Given the description of an element on the screen output the (x, y) to click on. 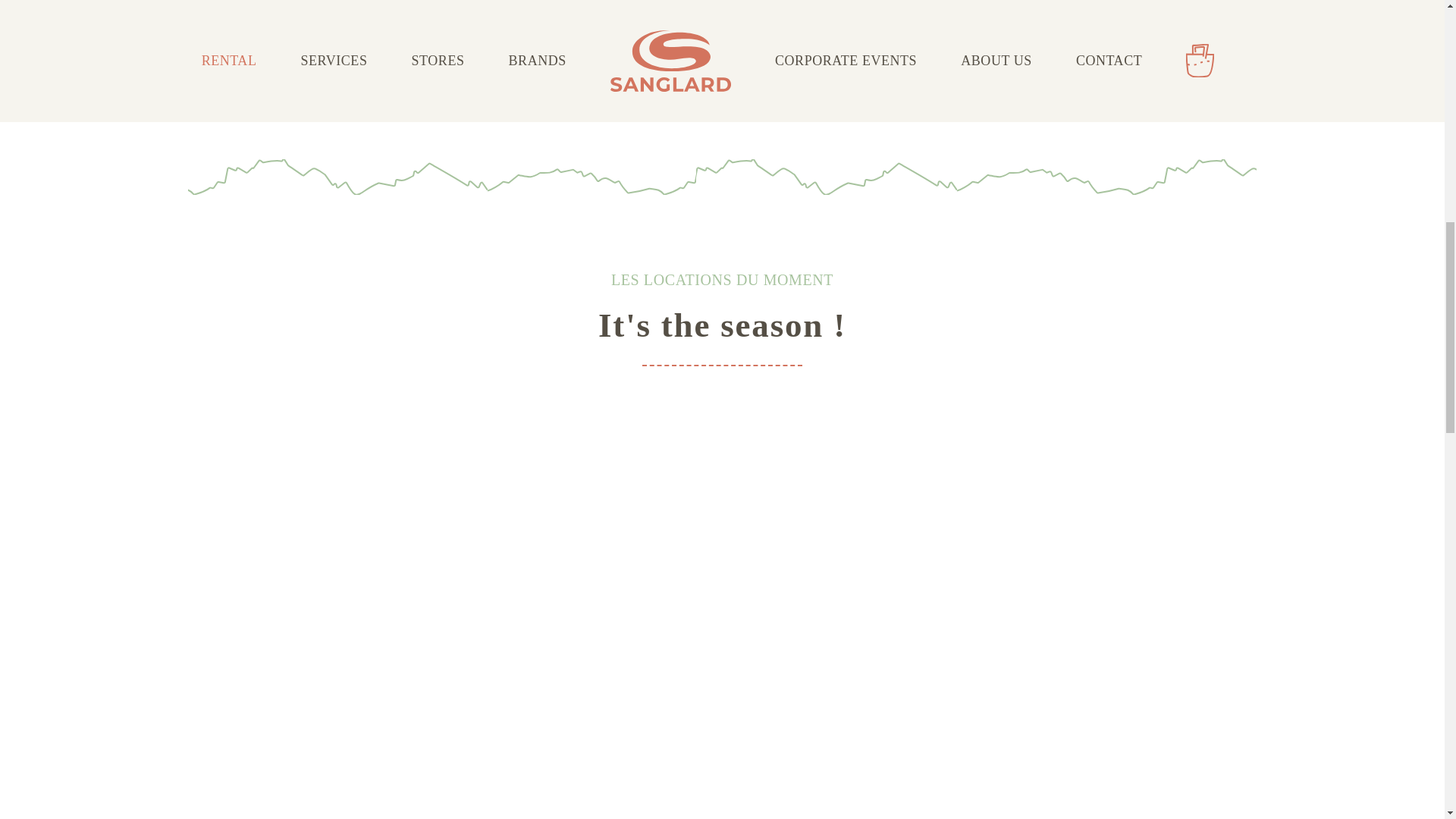
GO BACK (252, 83)
To book, you must select your rental dates and a store (714, 53)
